Given the description of an element on the screen output the (x, y) to click on. 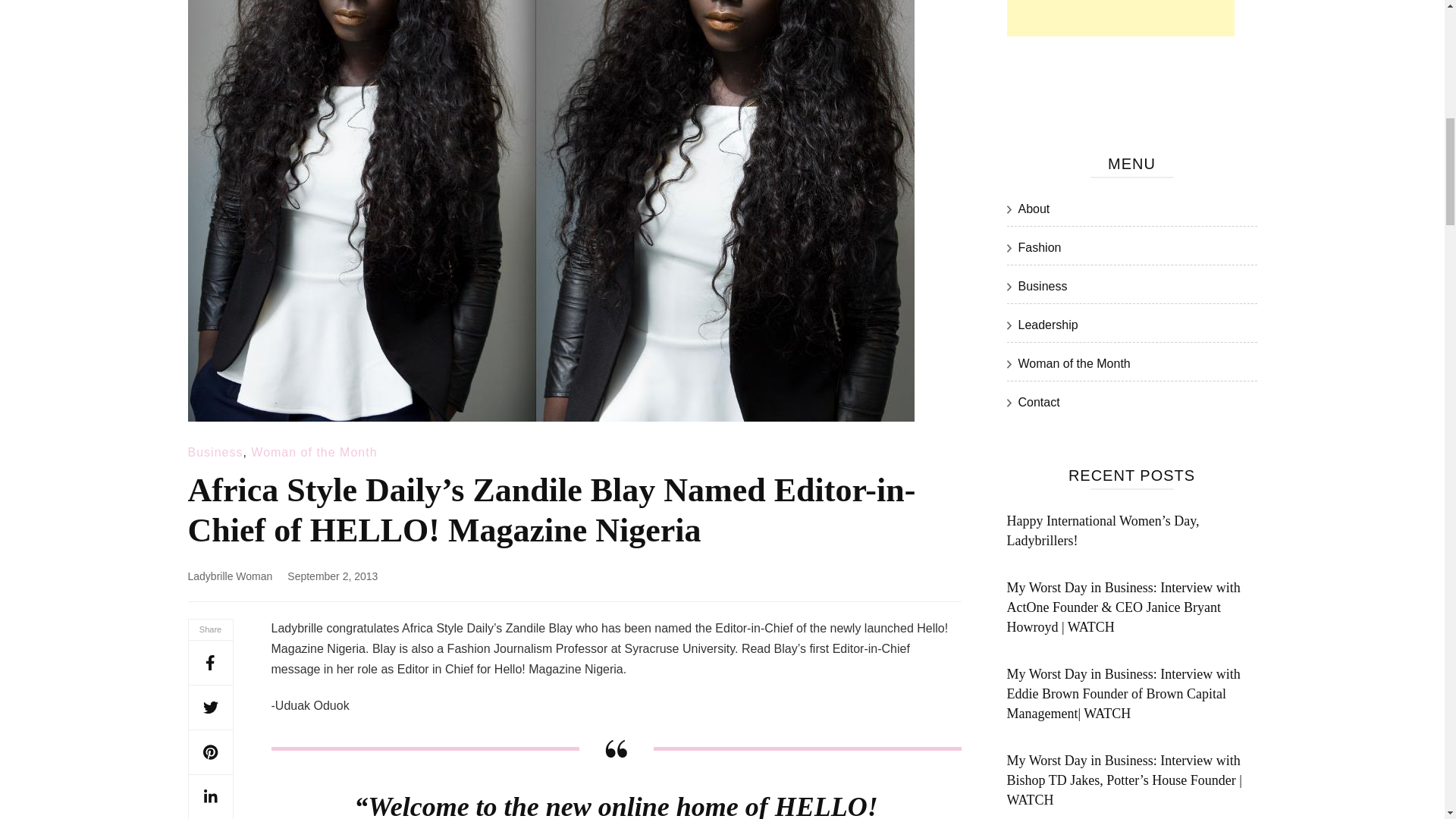
Advertisement (1120, 18)
Woman of the Month (313, 451)
Ladybrille Woman (230, 576)
Business (215, 451)
September 2, 2013 (331, 576)
